Given the description of an element on the screen output the (x, y) to click on. 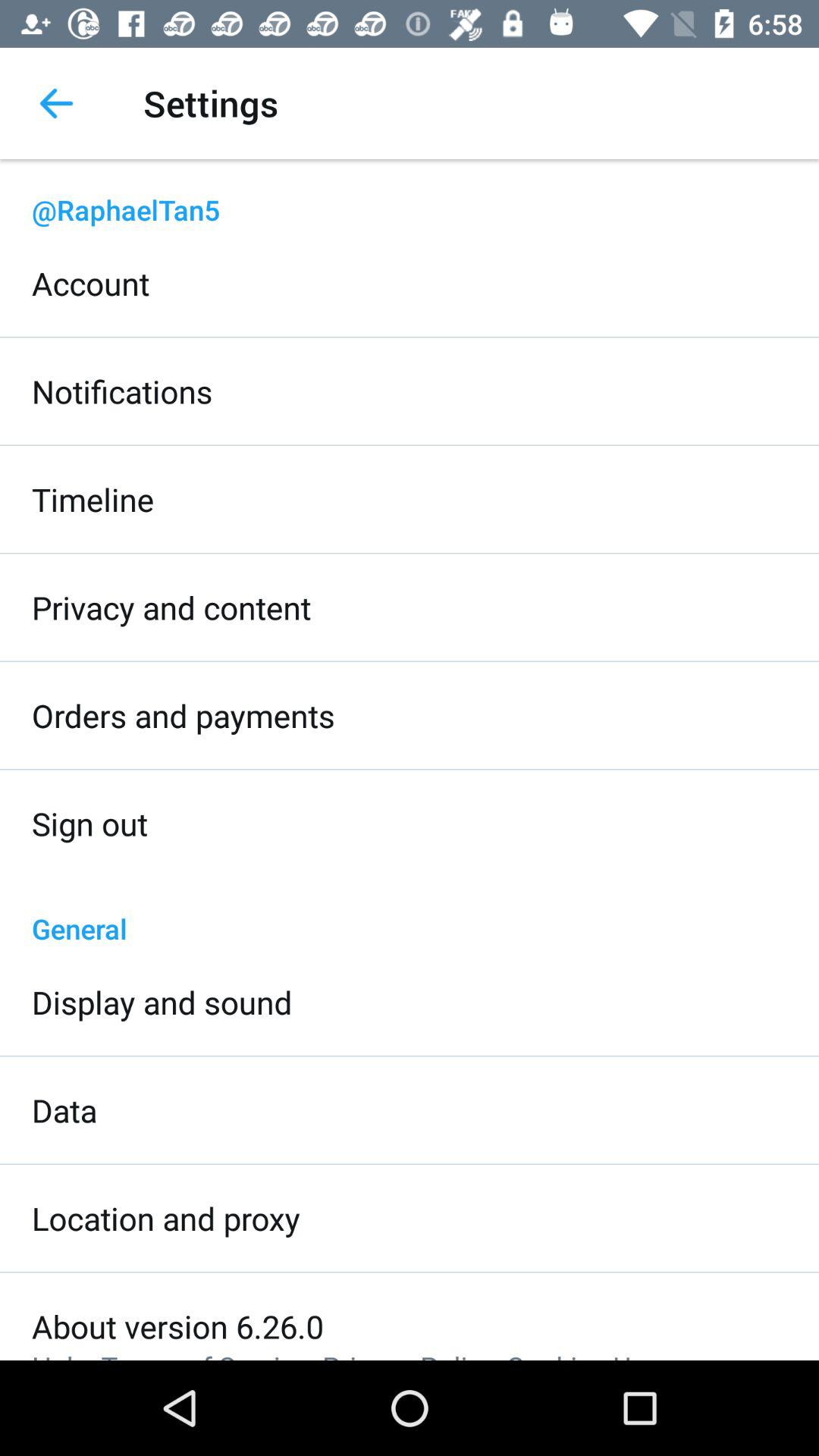
tap the account icon (90, 282)
